Given the description of an element on the screen output the (x, y) to click on. 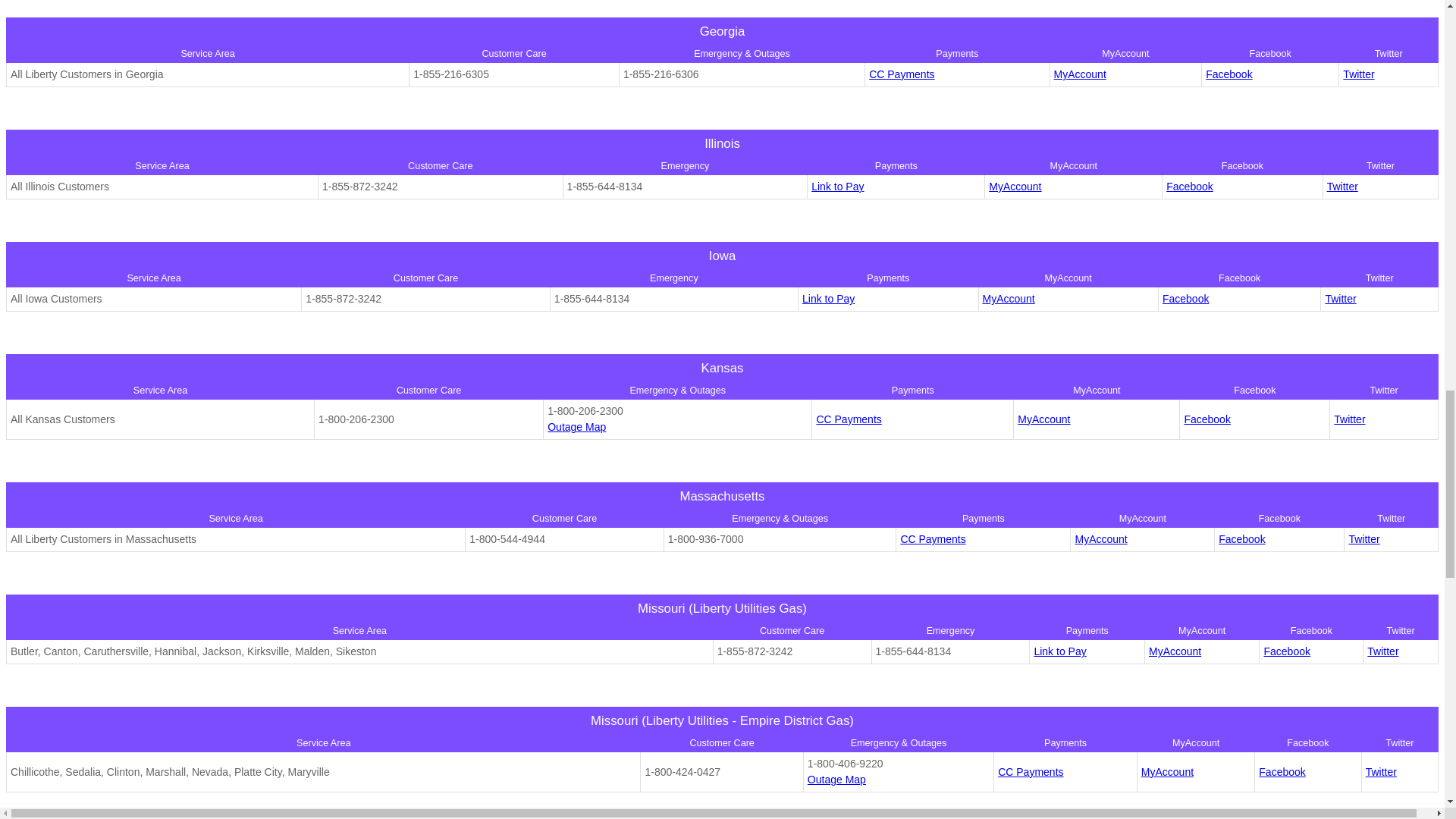
Facebook (1228, 73)
MyAccount (1080, 73)
CC Payments (901, 73)
